Given the description of an element on the screen output the (x, y) to click on. 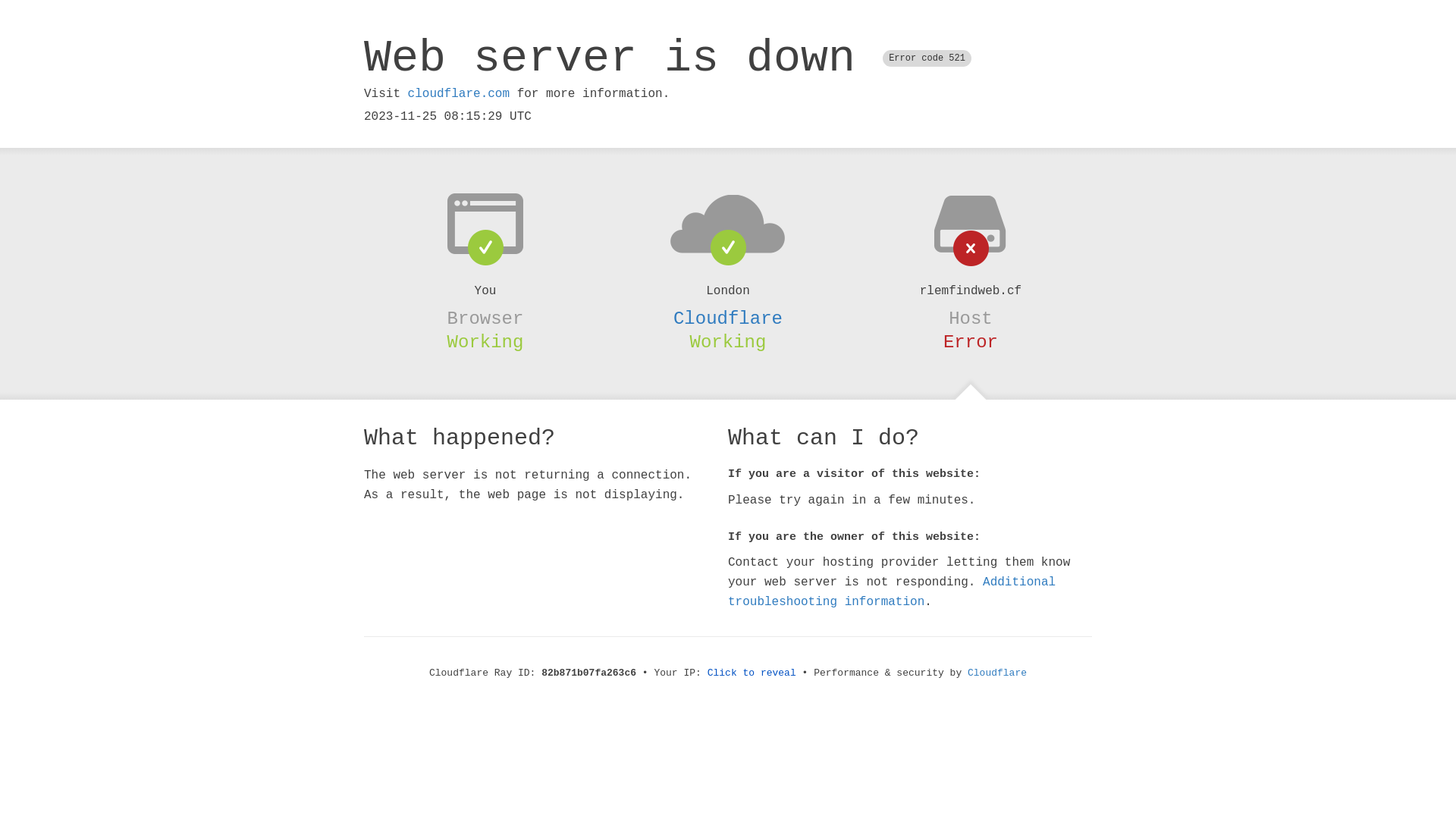
Click to reveal Element type: text (751, 672)
Cloudflare Element type: text (727, 318)
Additional troubleshooting information Element type: text (891, 591)
Cloudflare Element type: text (996, 672)
cloudflare.com Element type: text (458, 93)
